Given the description of an element on the screen output the (x, y) to click on. 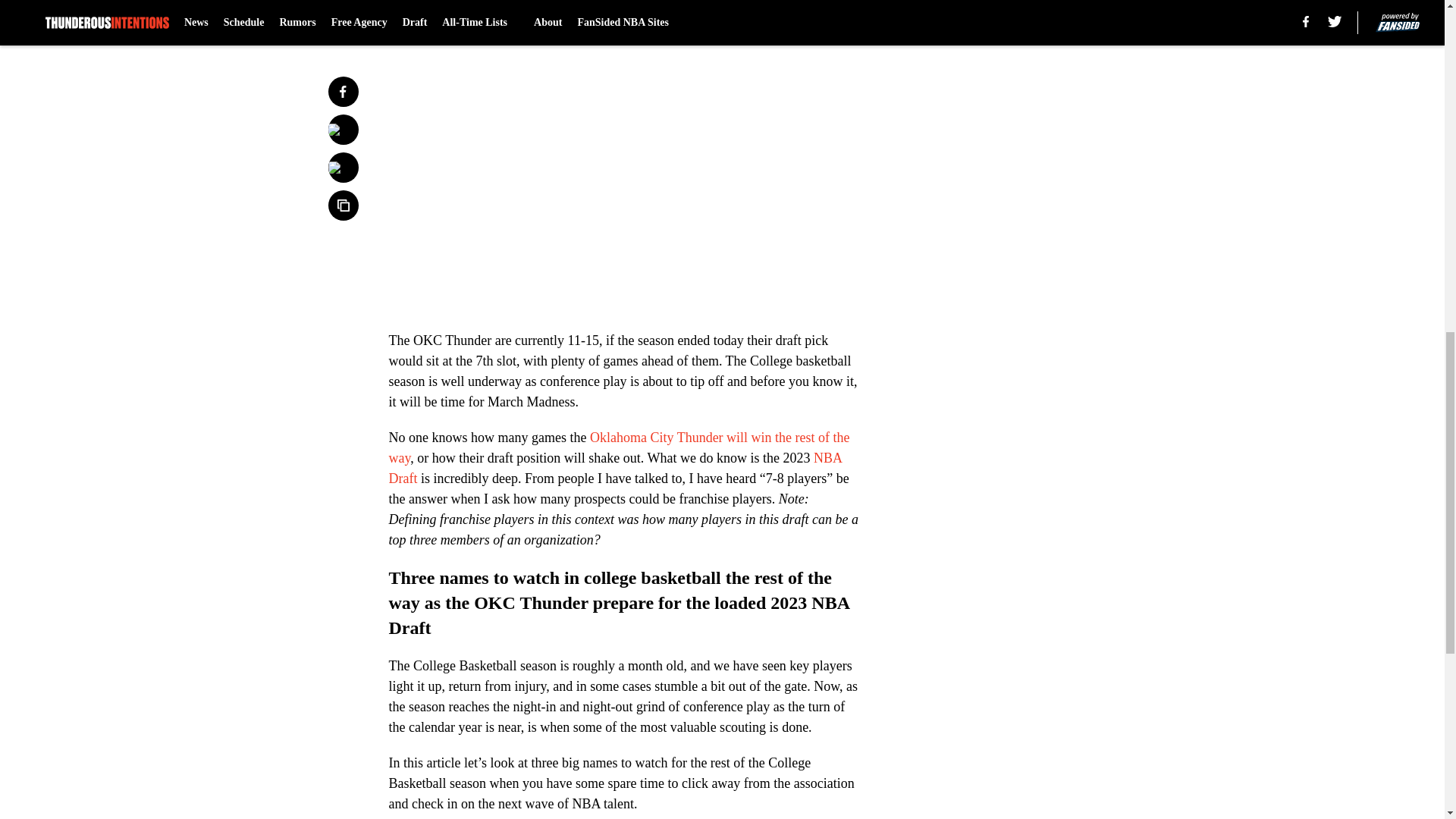
NBA Draft (614, 468)
Next (813, 20)
Prev (433, 20)
Oklahoma City Thunder will win the rest of the way (618, 447)
